Given the description of an element on the screen output the (x, y) to click on. 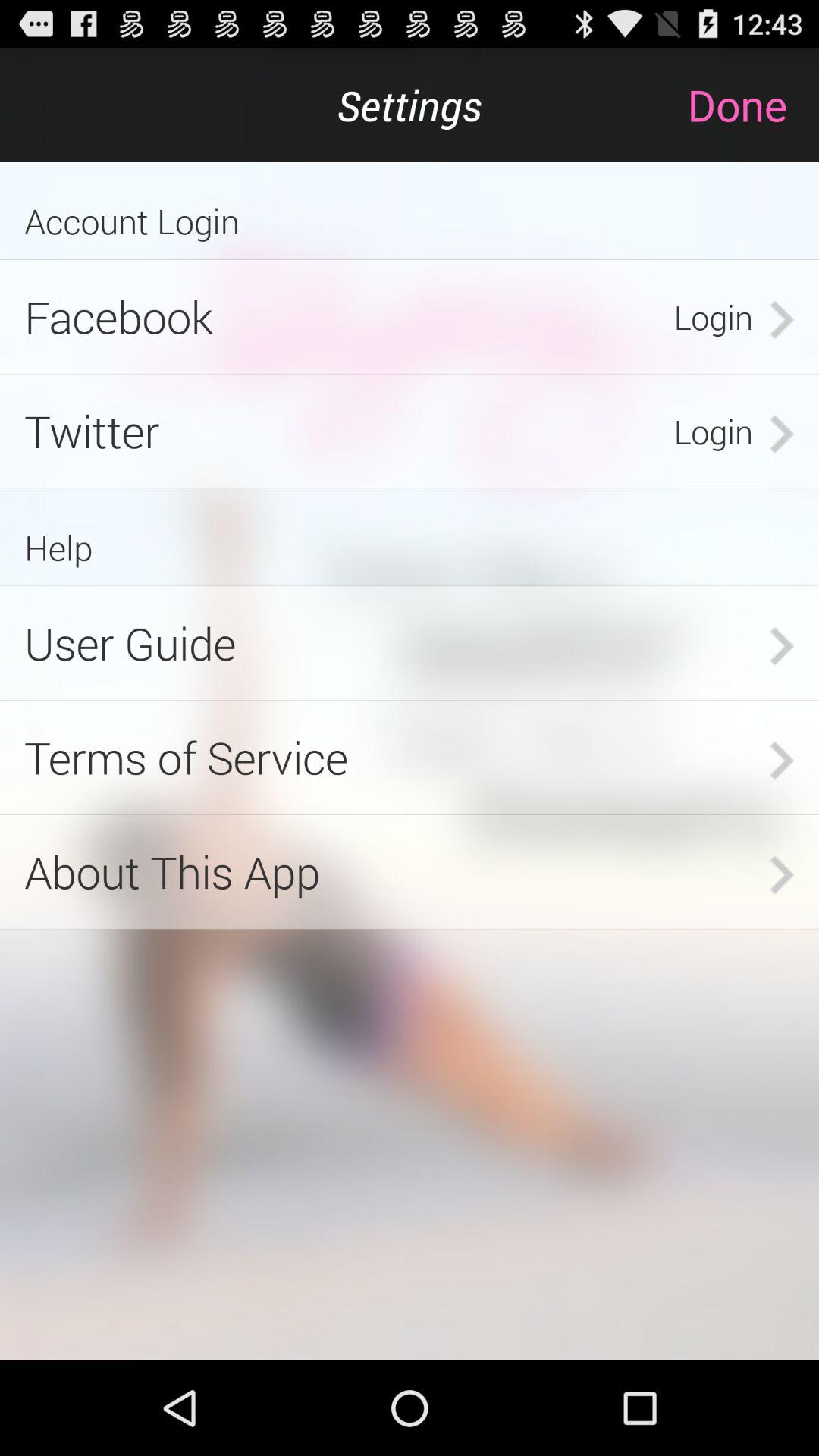
launch done app (752, 104)
